Given the description of an element on the screen output the (x, y) to click on. 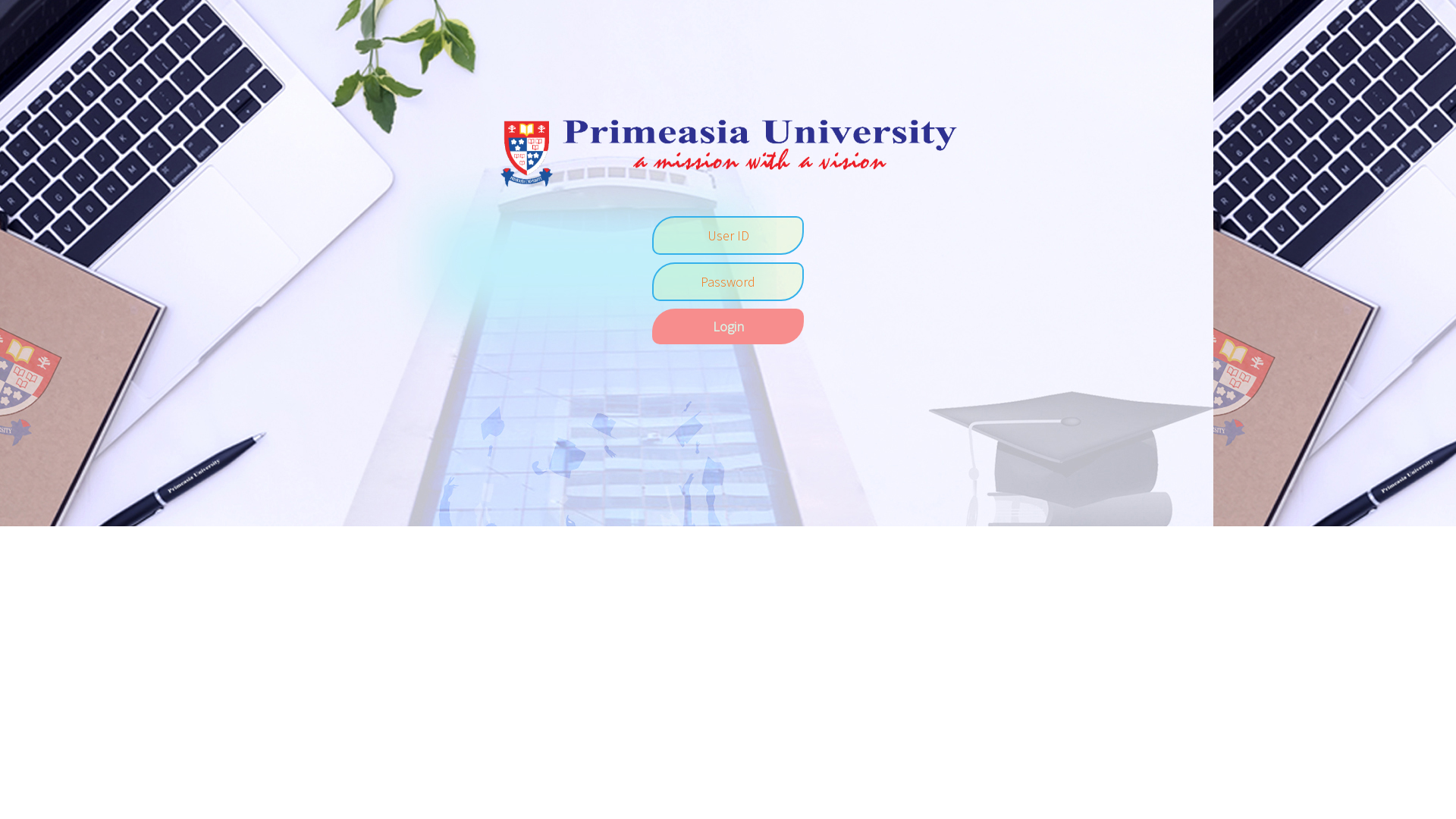
Login Element type: text (727, 326)
